Given the description of an element on the screen output the (x, y) to click on. 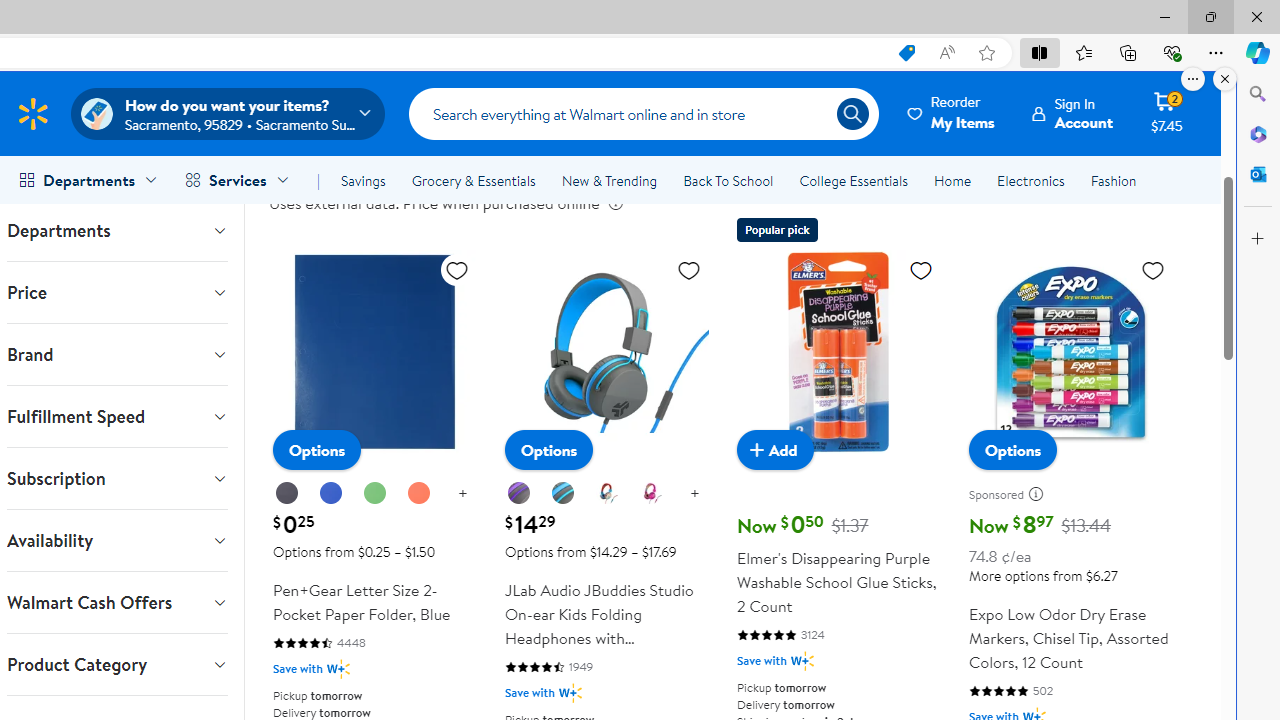
Close Search pane (1258, 94)
Gray (563, 494)
Add this page to favorites (Ctrl+D) (986, 53)
Pen+Gear Letter Size 2-Pocket Paper Folder, Blue (374, 352)
College Essentials (852, 180)
Back To School (728, 180)
Close (1256, 16)
Ad disclaimer and feedback (1040, 494)
Collections (1128, 52)
Pink (651, 494)
Multicolor (607, 494)
Black (286, 493)
Home (952, 180)
